Given the description of an element on the screen output the (x, y) to click on. 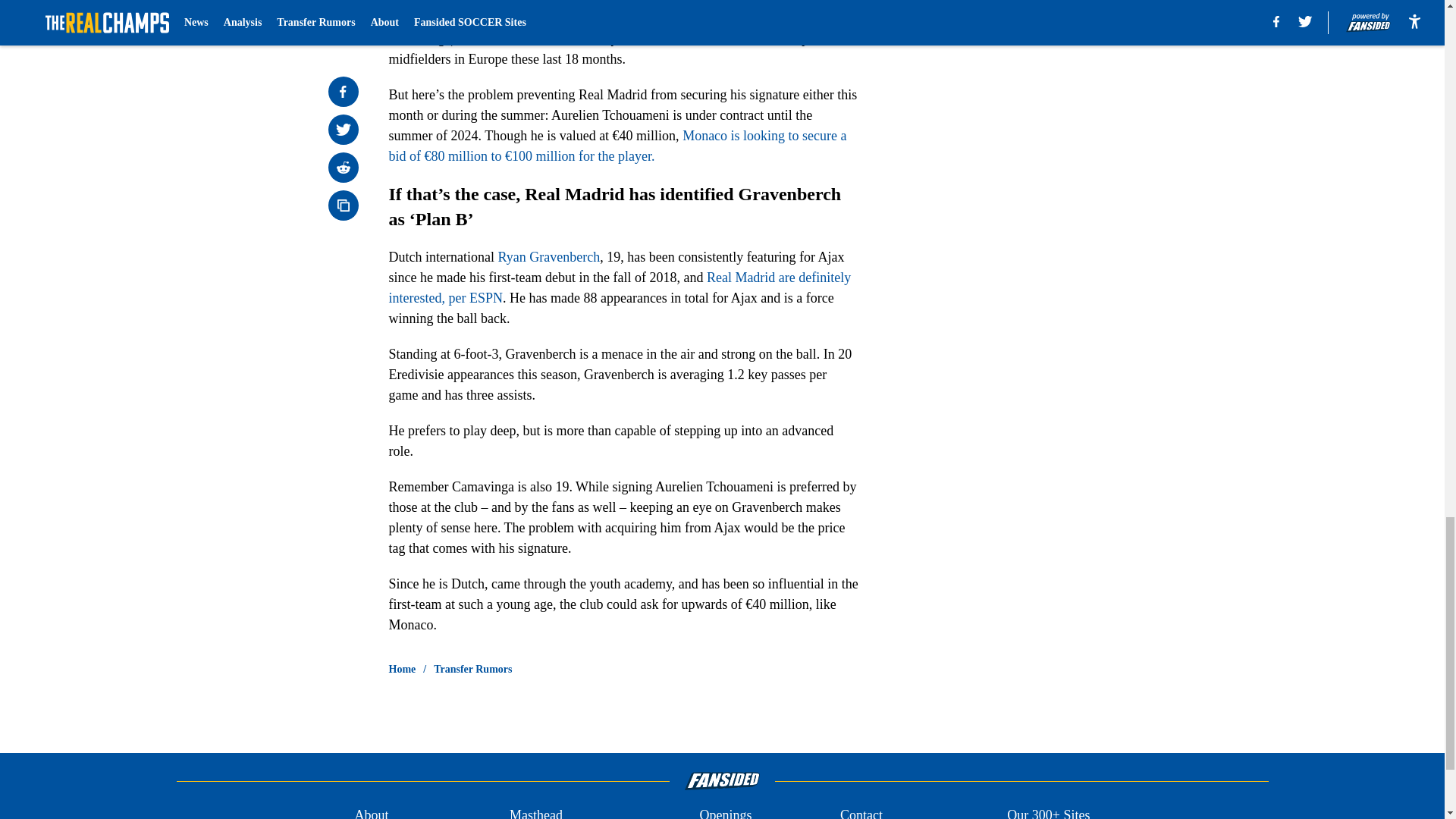
Masthead (535, 812)
Home (401, 669)
Ryan Gravenberch (548, 256)
Transfer Rumors (472, 669)
About (370, 812)
Openings (724, 812)
Real Madrid are definitely interested, per ESPN (619, 287)
Contact (861, 812)
